Given the description of an element on the screen output the (x, y) to click on. 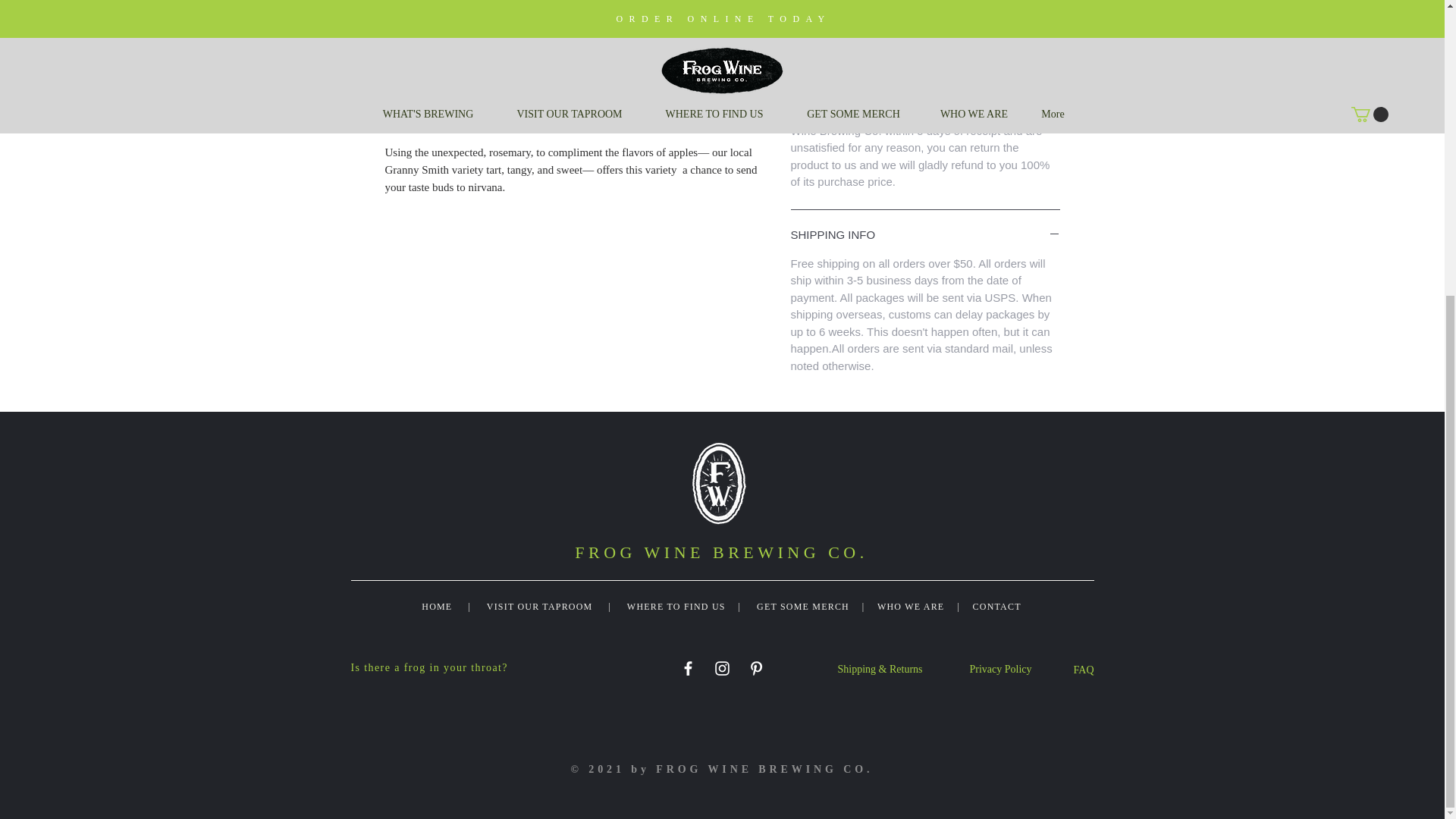
WHERE TO FIND US (676, 606)
HOME (436, 606)
WHO WE ARE (910, 606)
   CONTACT (992, 606)
GET SOME MERCH (802, 606)
BUY NOW (924, 27)
ADD TO CART (924, 2)
SHIPPING INFO (924, 235)
FROG WINE BREWING CO. (721, 551)
